Given the description of an element on the screen output the (x, y) to click on. 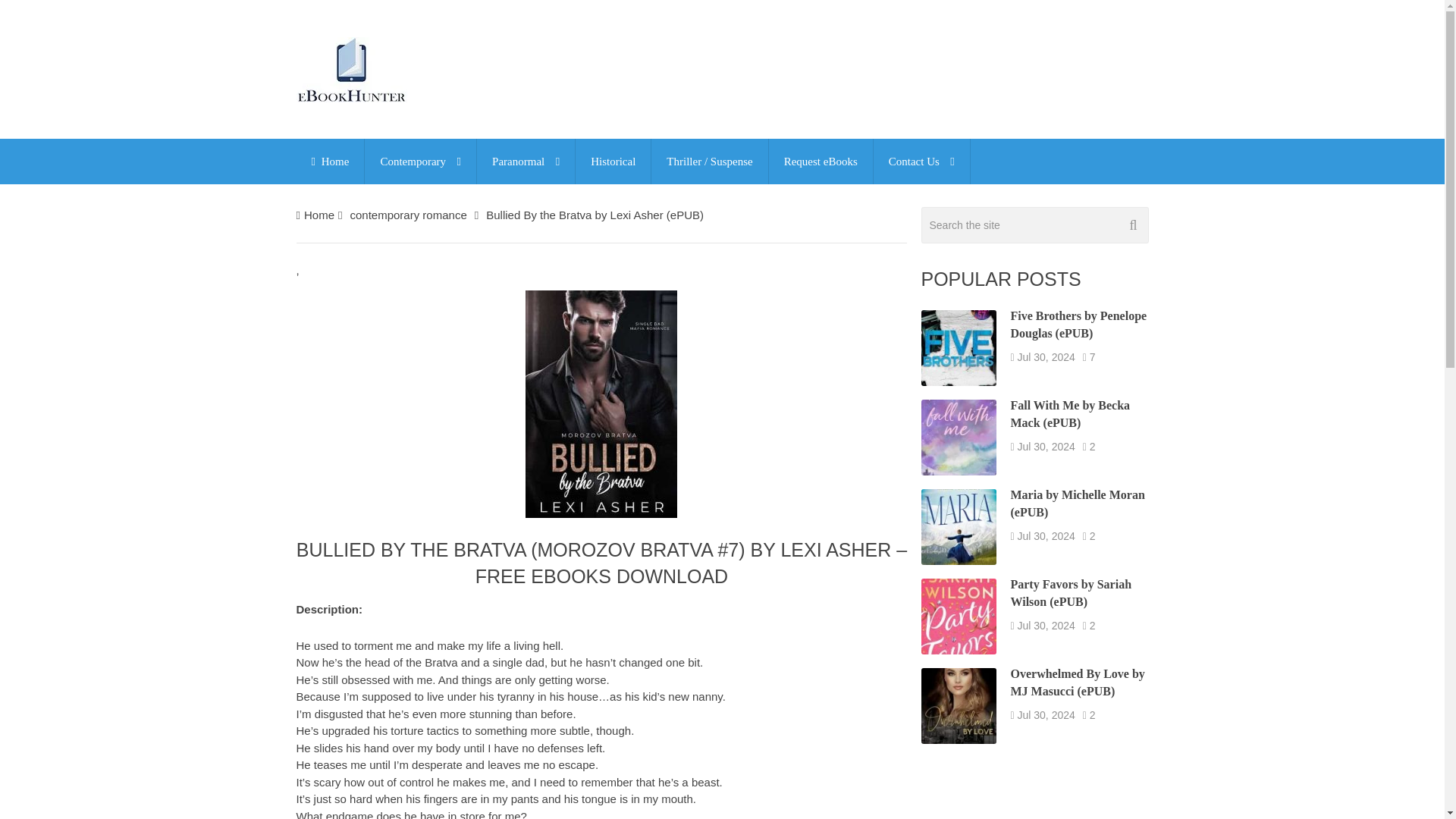
Home (319, 214)
Paranormal (526, 161)
contemporary romance (407, 214)
Historical (612, 161)
Home (329, 161)
Request eBooks (820, 161)
Contact Us (921, 161)
Contemporary (420, 161)
